Given the description of an element on the screen output the (x, y) to click on. 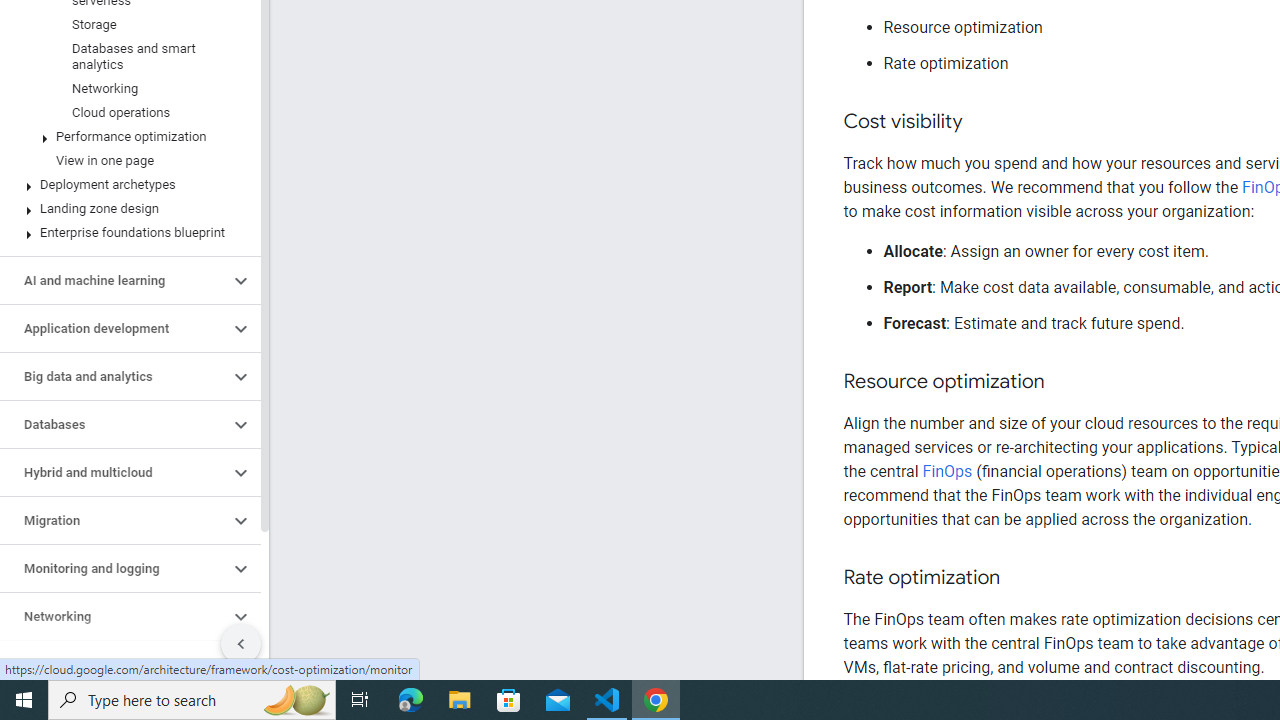
Databases and smart analytics (126, 56)
Databases (114, 425)
Copy link to this section: Resource optimization (1064, 382)
Application development (114, 328)
Migration (114, 520)
Reliability and disaster recovery (114, 664)
Hide side navigation (241, 643)
Monitoring and logging (114, 569)
